Given the description of an element on the screen output the (x, y) to click on. 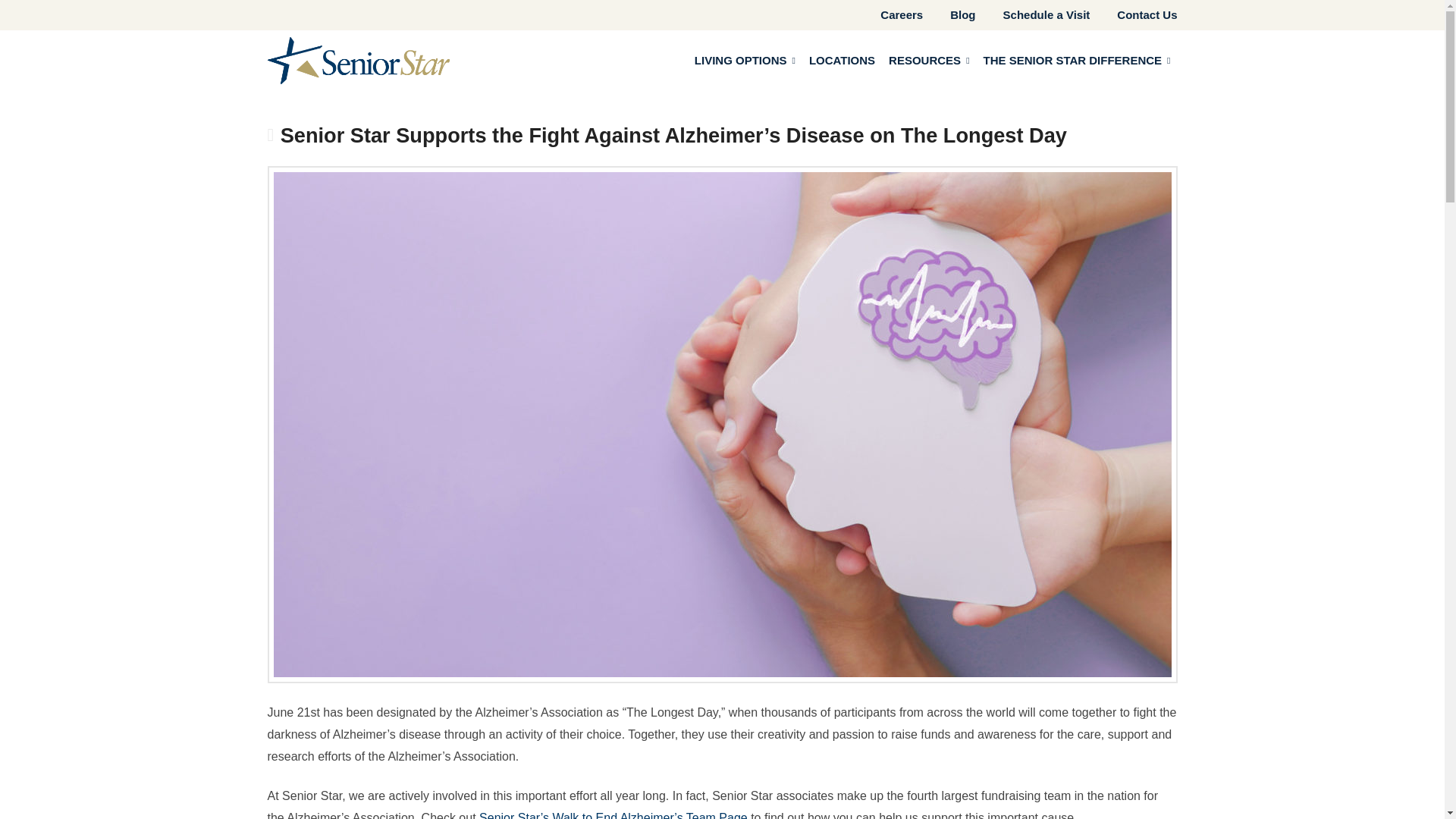
LOCATIONS (842, 60)
Schedule a Visit (1032, 15)
RESOURCES (928, 60)
Contact Us (1132, 15)
Careers (888, 15)
LIVING OPTIONS (744, 60)
Blog (949, 15)
THE SENIOR STAR DIFFERENCE (1076, 60)
